Given the description of an element on the screen output the (x, y) to click on. 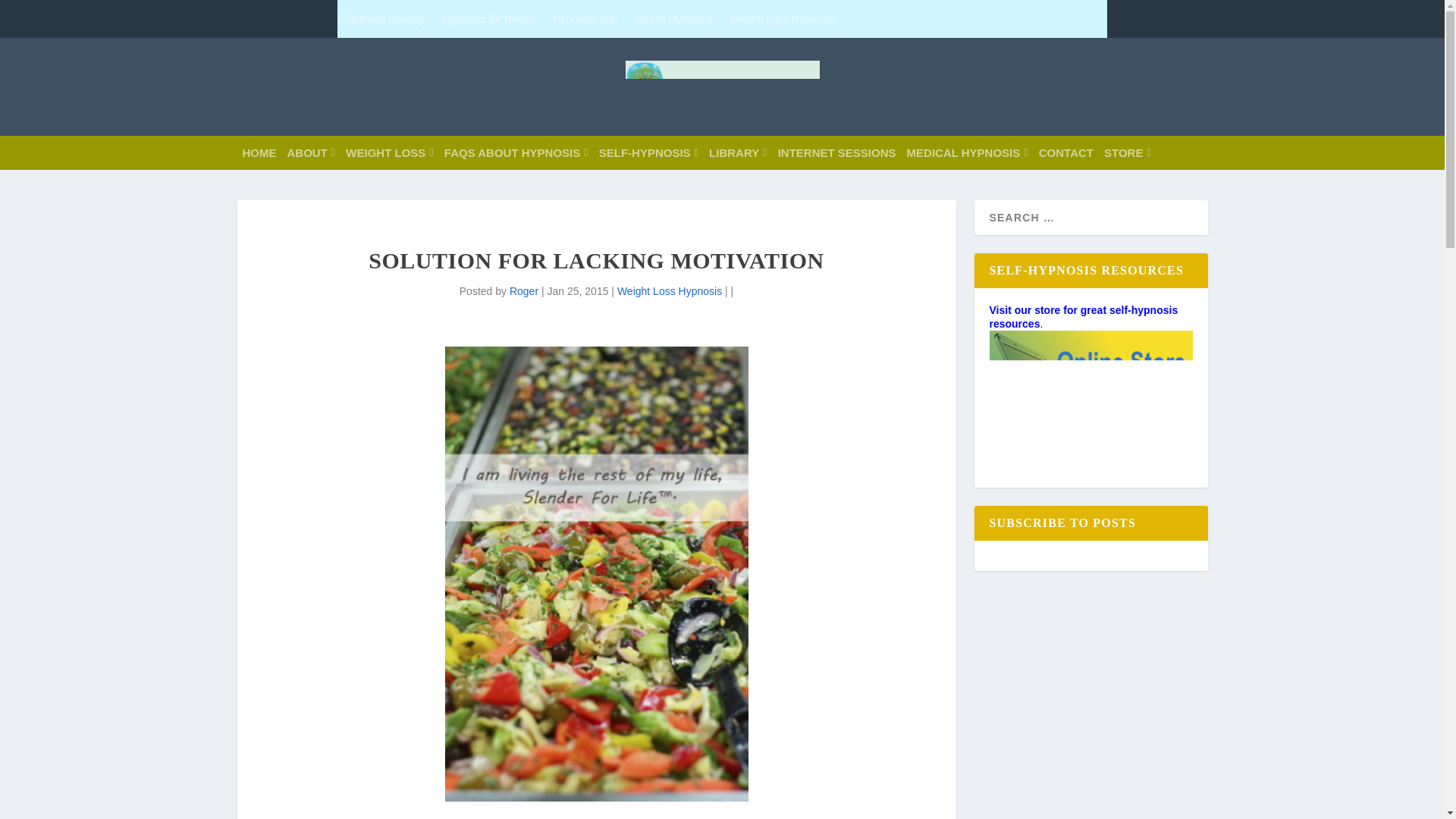
Stress Hypnosis (672, 18)
FAQS ABOUT HYPNOSIS (516, 152)
WEIGHT LOSS (389, 152)
LIBRARY (738, 152)
HOME (259, 152)
SELF-HYPNOSIS (648, 152)
MEDICAL HYPNOSIS (967, 152)
Posts by Roger (523, 291)
ABOUT (310, 152)
INTERNET SESSIONS (836, 152)
Hypnosis for Health (488, 18)
Weight Loss Hypnosis (782, 18)
Childhood Obesity (380, 18)
Hypnosis Info (585, 18)
